Given the description of an element on the screen output the (x, y) to click on. 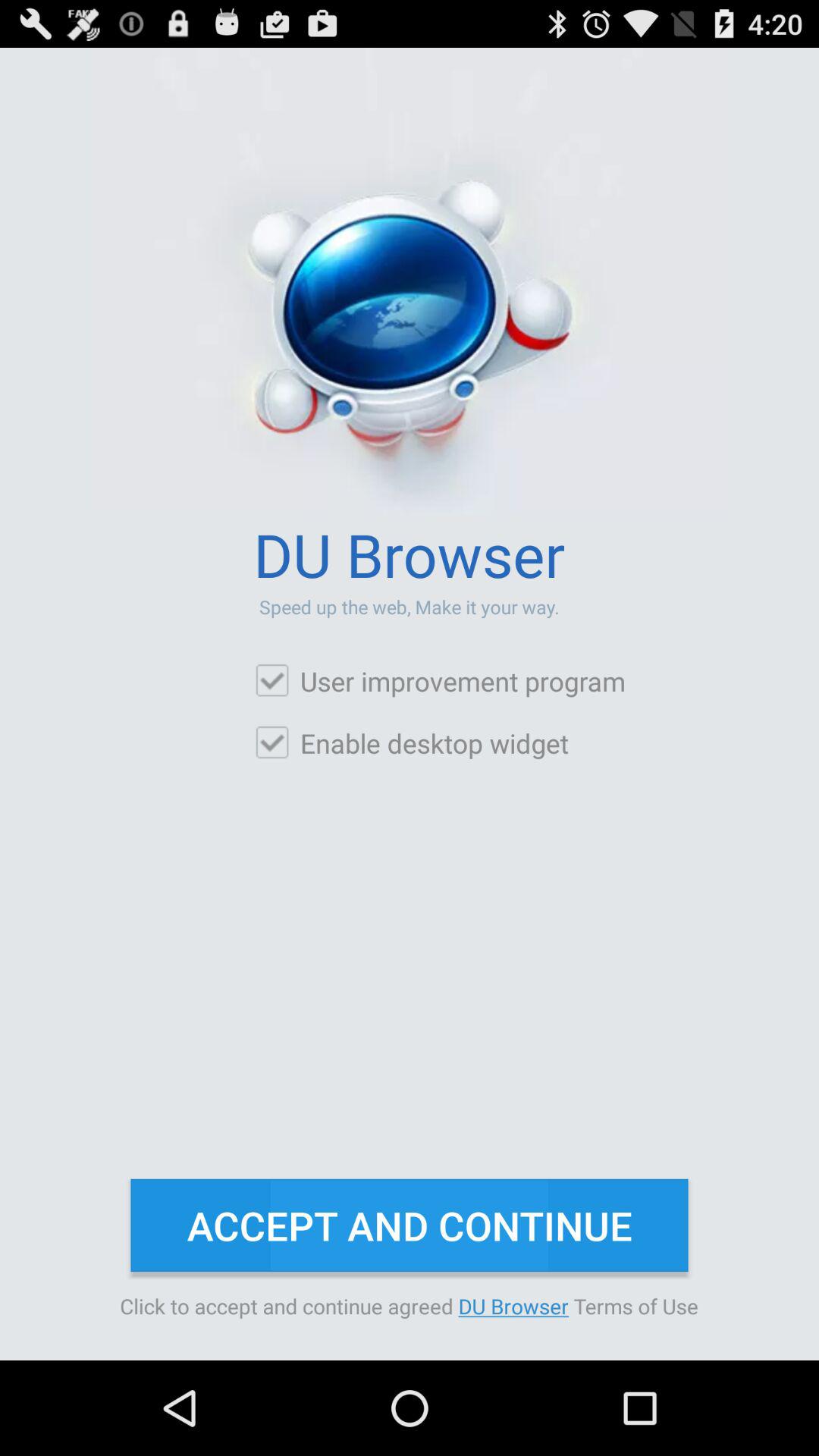
turn on the item below the accept and continue button (409, 1305)
